Given the description of an element on the screen output the (x, y) to click on. 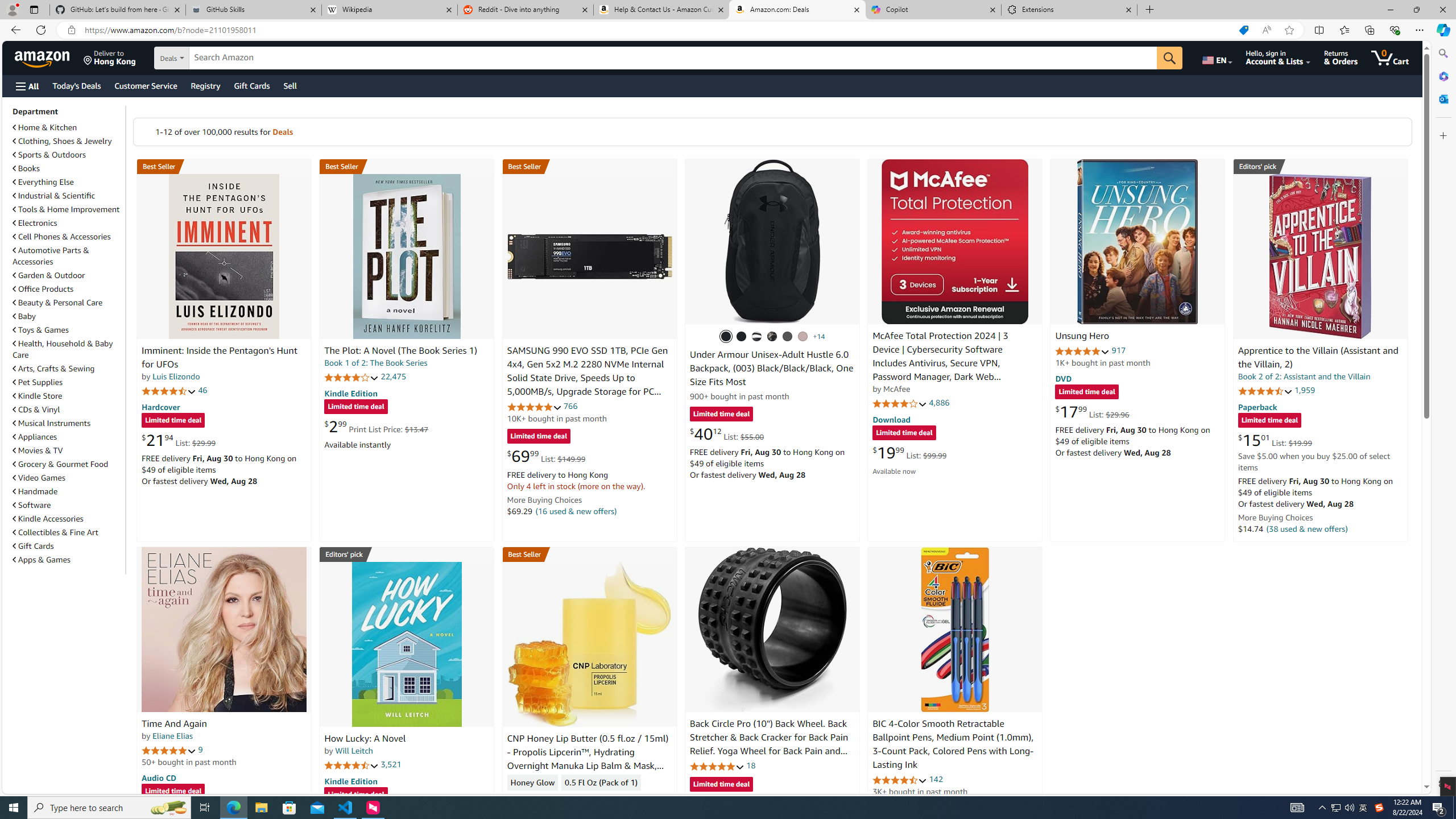
Arts, Crafts & Sewing (53, 368)
Industrial & Scientific (54, 195)
(002) Black / Black / White (756, 336)
Everything Else (43, 181)
Grocery & Gourmet Food (67, 464)
Best Seller in Lip Butters (589, 553)
Everything Else (67, 181)
4.6 out of 5 stars (899, 779)
142 (935, 778)
$19.99 List: $99.99 (909, 452)
Paperback (1256, 406)
766 (570, 406)
Gift Cards (33, 545)
